Given the description of an element on the screen output the (x, y) to click on. 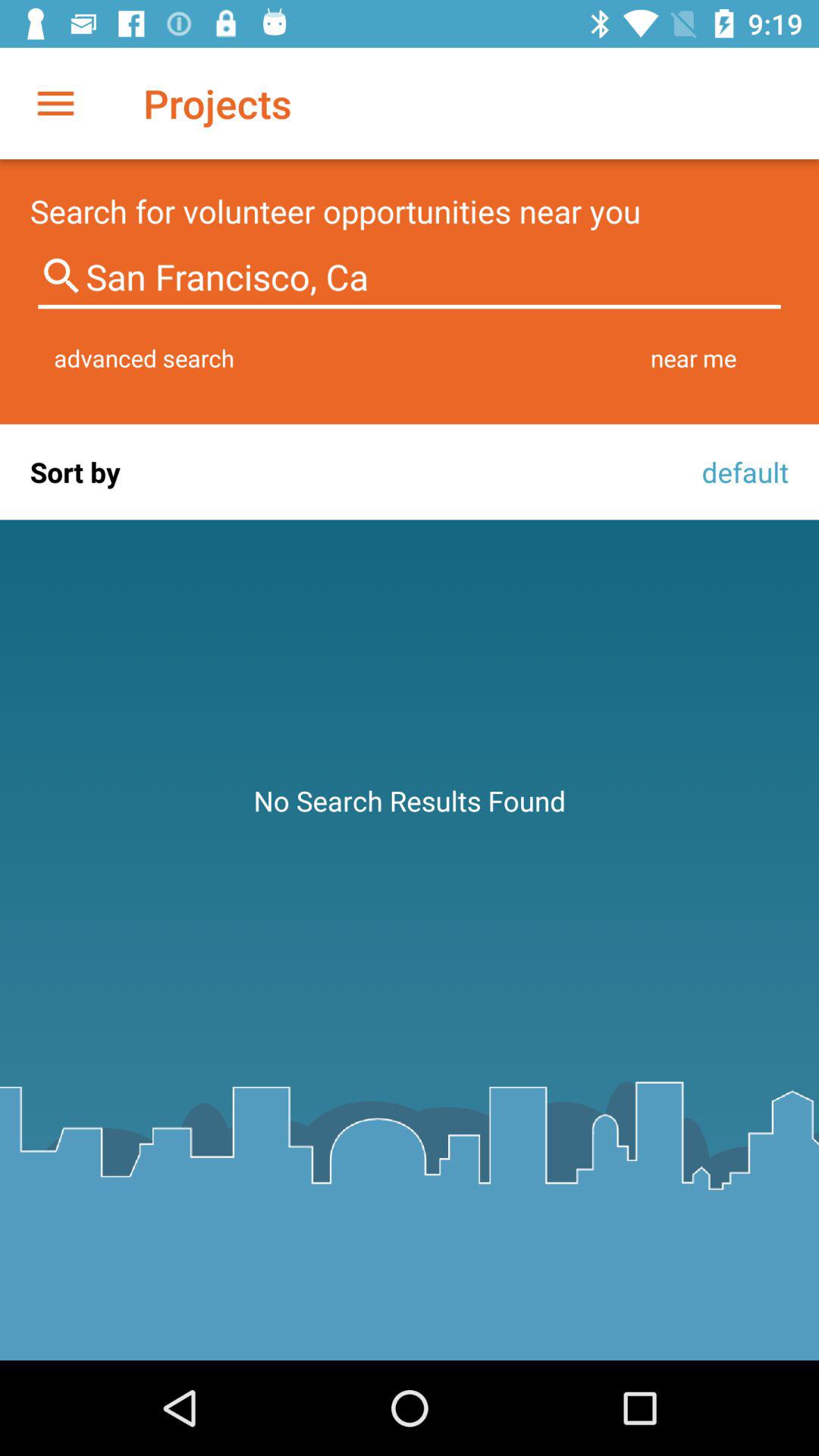
turn on item next to the advanced search (692, 358)
